Given the description of an element on the screen output the (x, y) to click on. 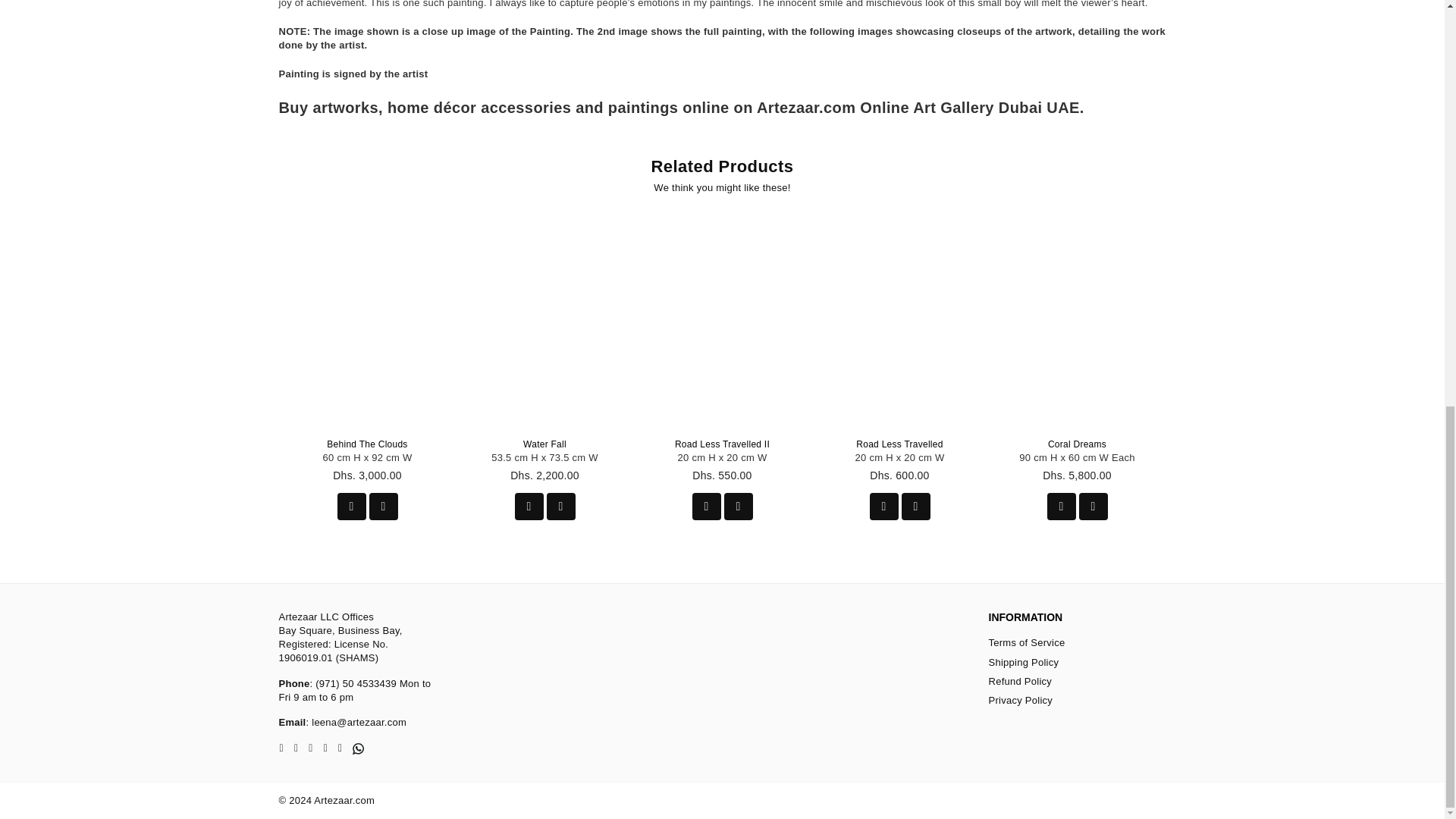
Artezaar.com Online Art Gallery on Facebook (281, 748)
